Given the description of an element on the screen output the (x, y) to click on. 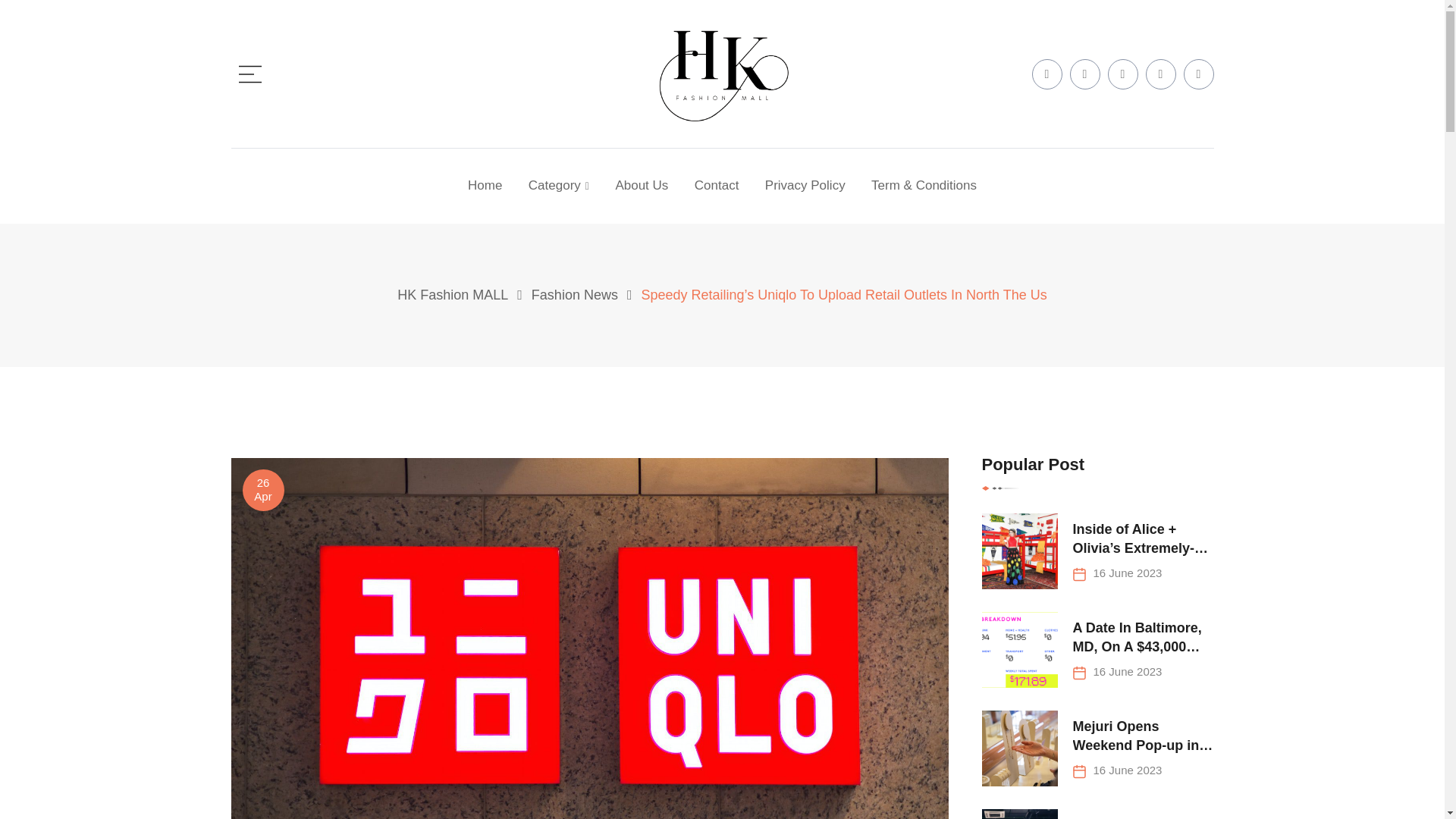
Category (557, 185)
Go to the Fashion News Category archives. (574, 294)
About Us (641, 185)
Privacy Policy (805, 185)
Contact (716, 185)
Go to HK Fashion MALL. (452, 294)
